Given the description of an element on the screen output the (x, y) to click on. 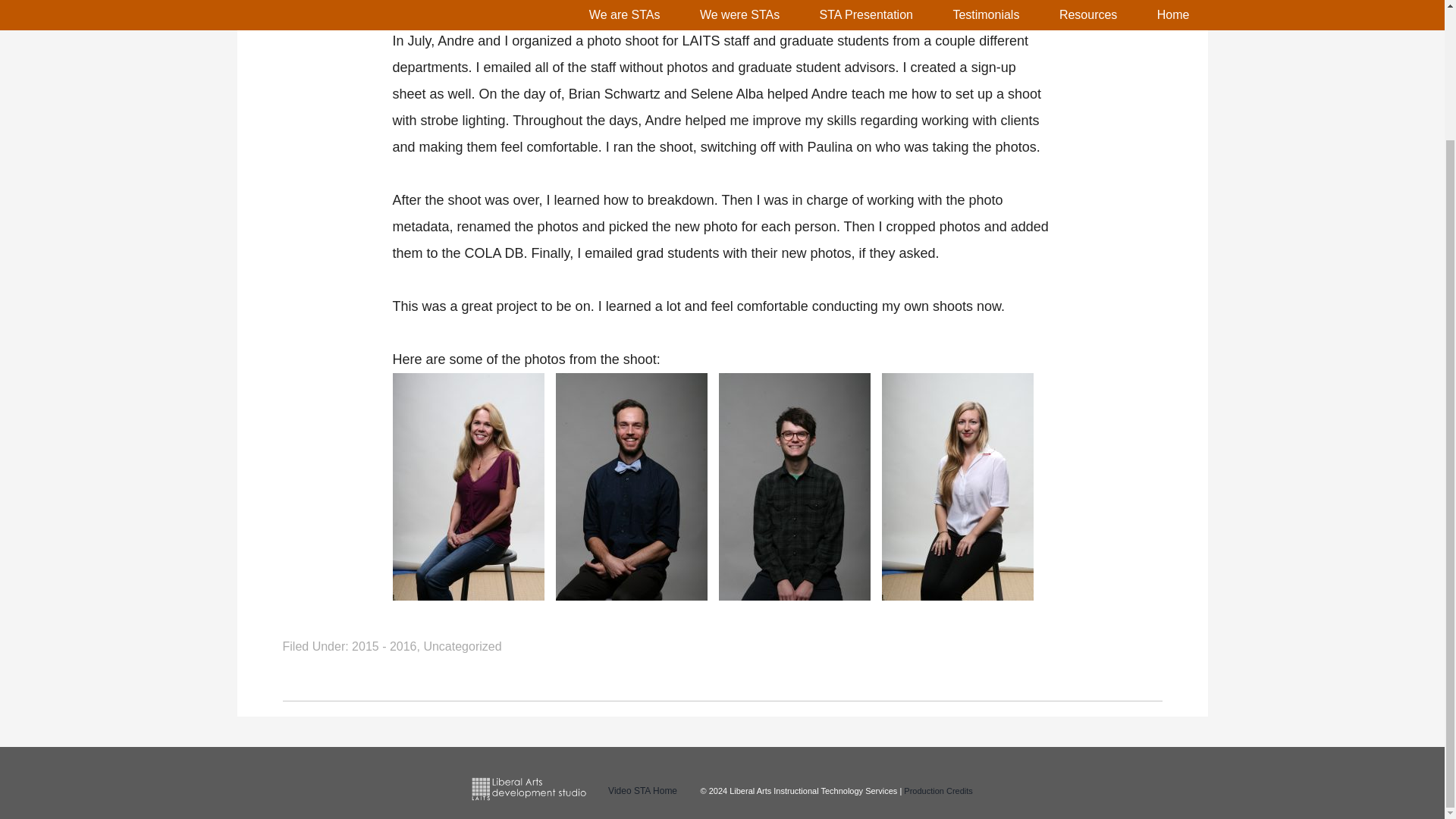
Teresa Cagle (419, 0)
Production Credits (938, 790)
Video STA Home (642, 790)
Uncategorized (461, 645)
2015 - 2016 (384, 645)
